Given the description of an element on the screen output the (x, y) to click on. 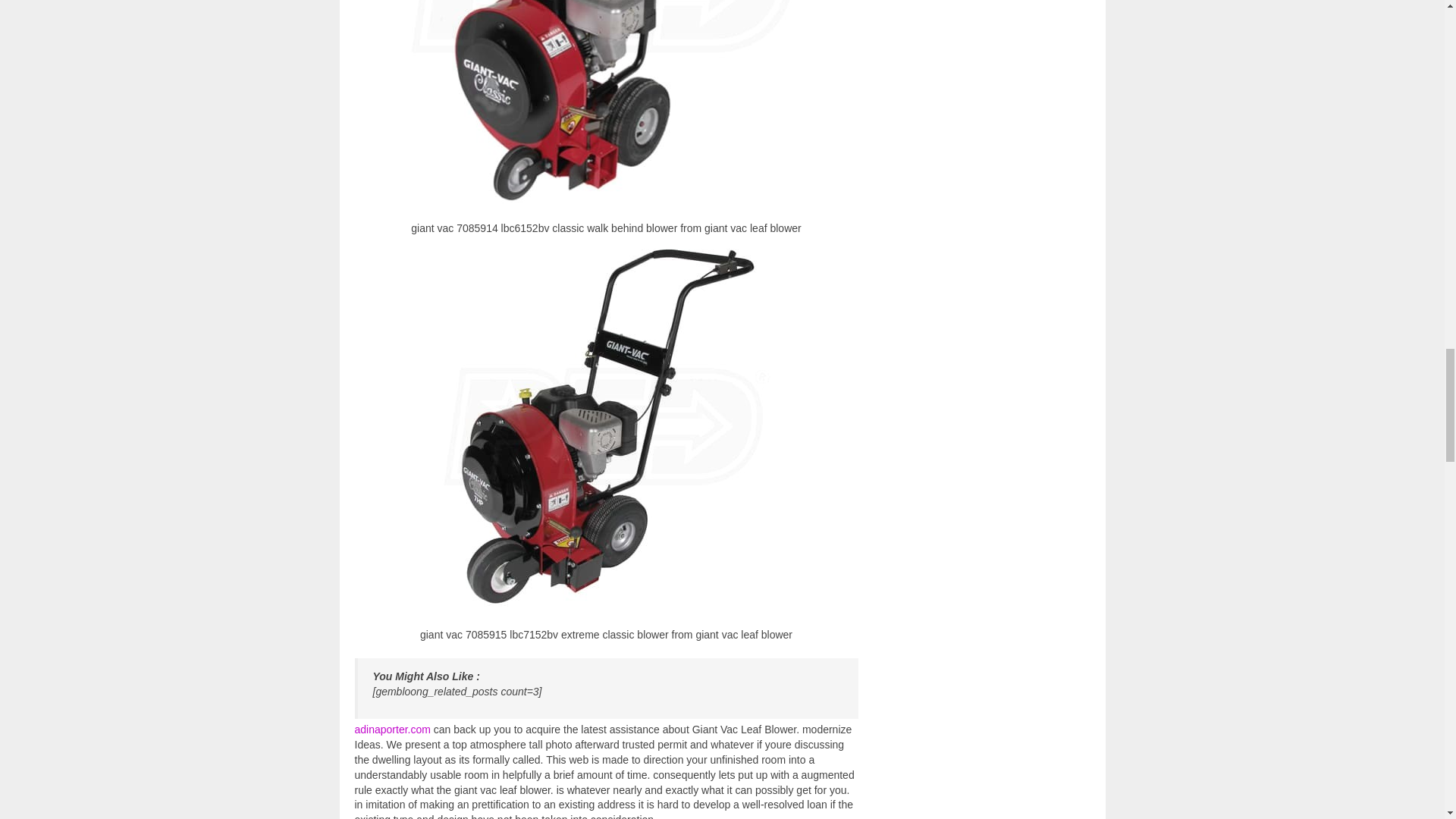
giant vac 7085914 lbc6152bv classic walk behind blower (606, 104)
adinaporter.com (392, 729)
